Given the description of an element on the screen output the (x, y) to click on. 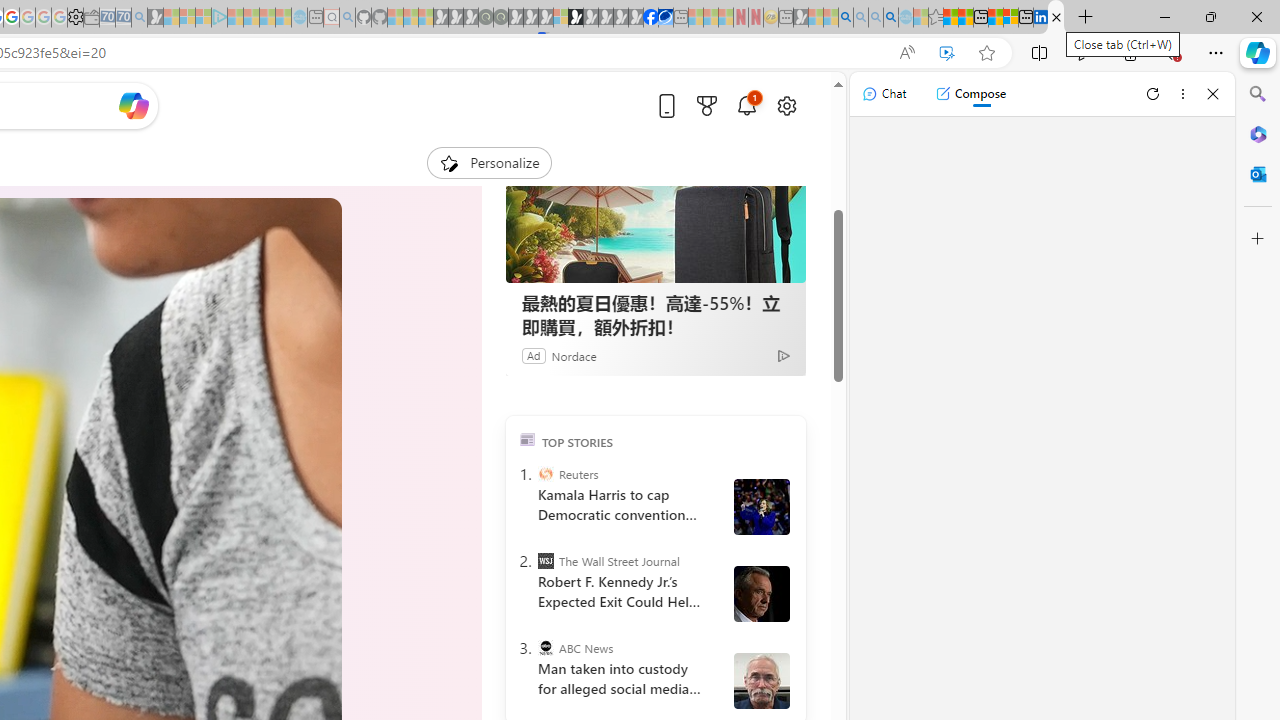
Class: at-item inline-watch (310, 154)
ABC News (545, 647)
More (310, 154)
